Given the description of an element on the screen output the (x, y) to click on. 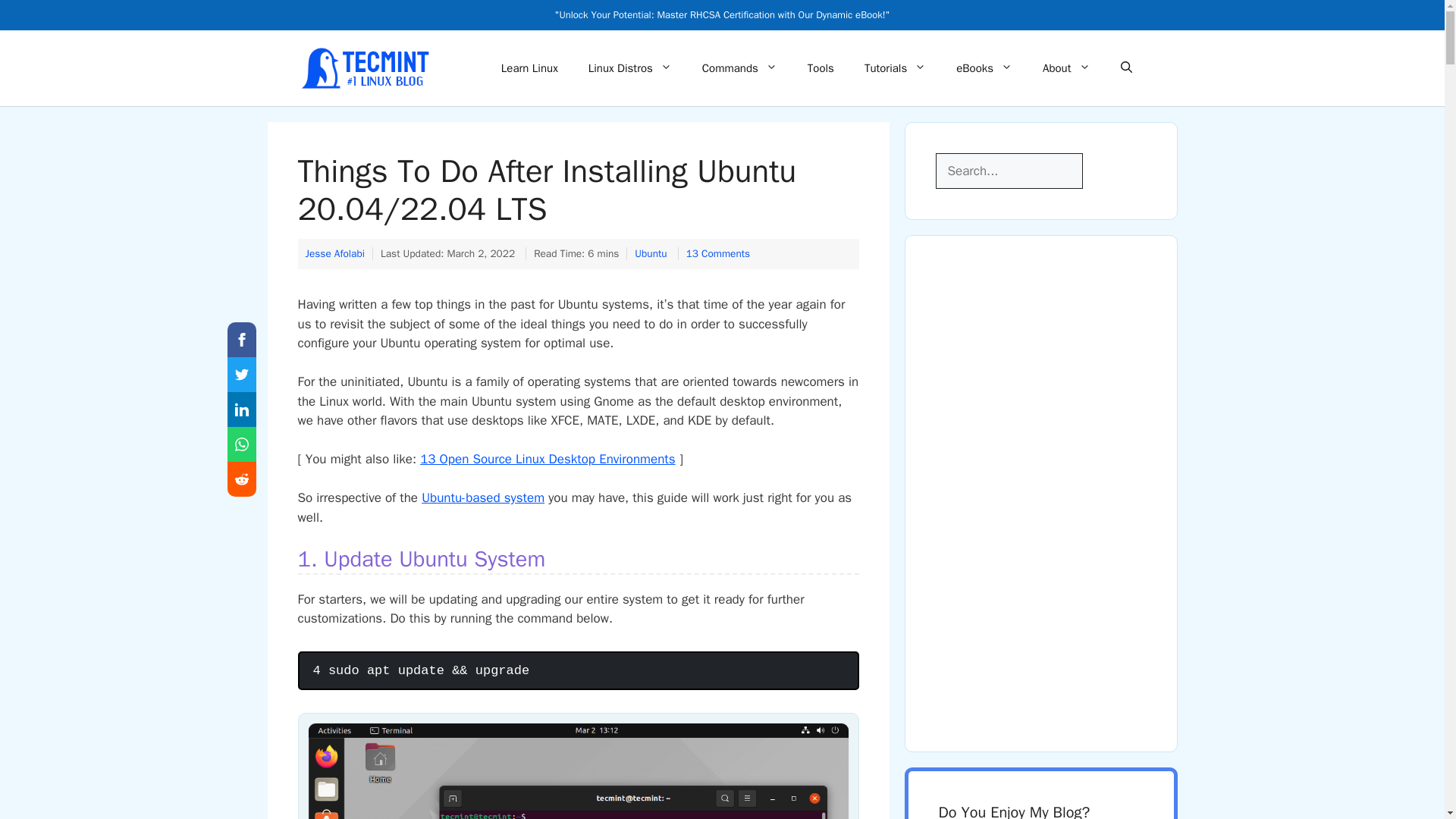
Start Learning Linux (529, 67)
Learn Linux (529, 67)
Linux Distributions (630, 67)
Linux Distros (630, 67)
Commands (739, 67)
Tutorials (894, 67)
Tools (820, 67)
